Given the description of an element on the screen output the (x, y) to click on. 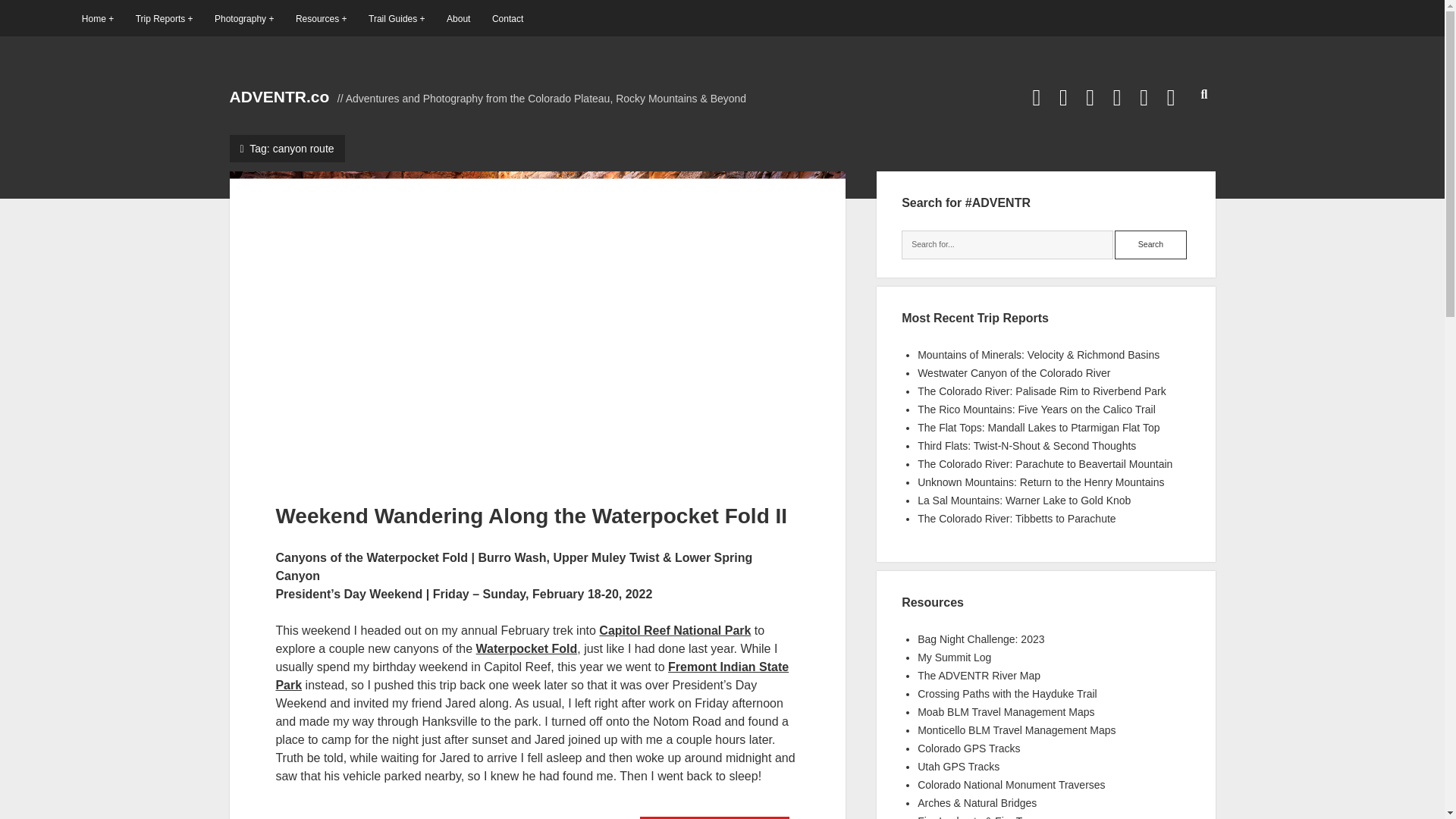
Photography (243, 18)
Search for: (1007, 244)
Search (1150, 244)
About ADVENTR.co (458, 18)
Trip Reports (164, 18)
Search (1150, 244)
Home (97, 18)
Contact (507, 18)
